Given the description of an element on the screen output the (x, y) to click on. 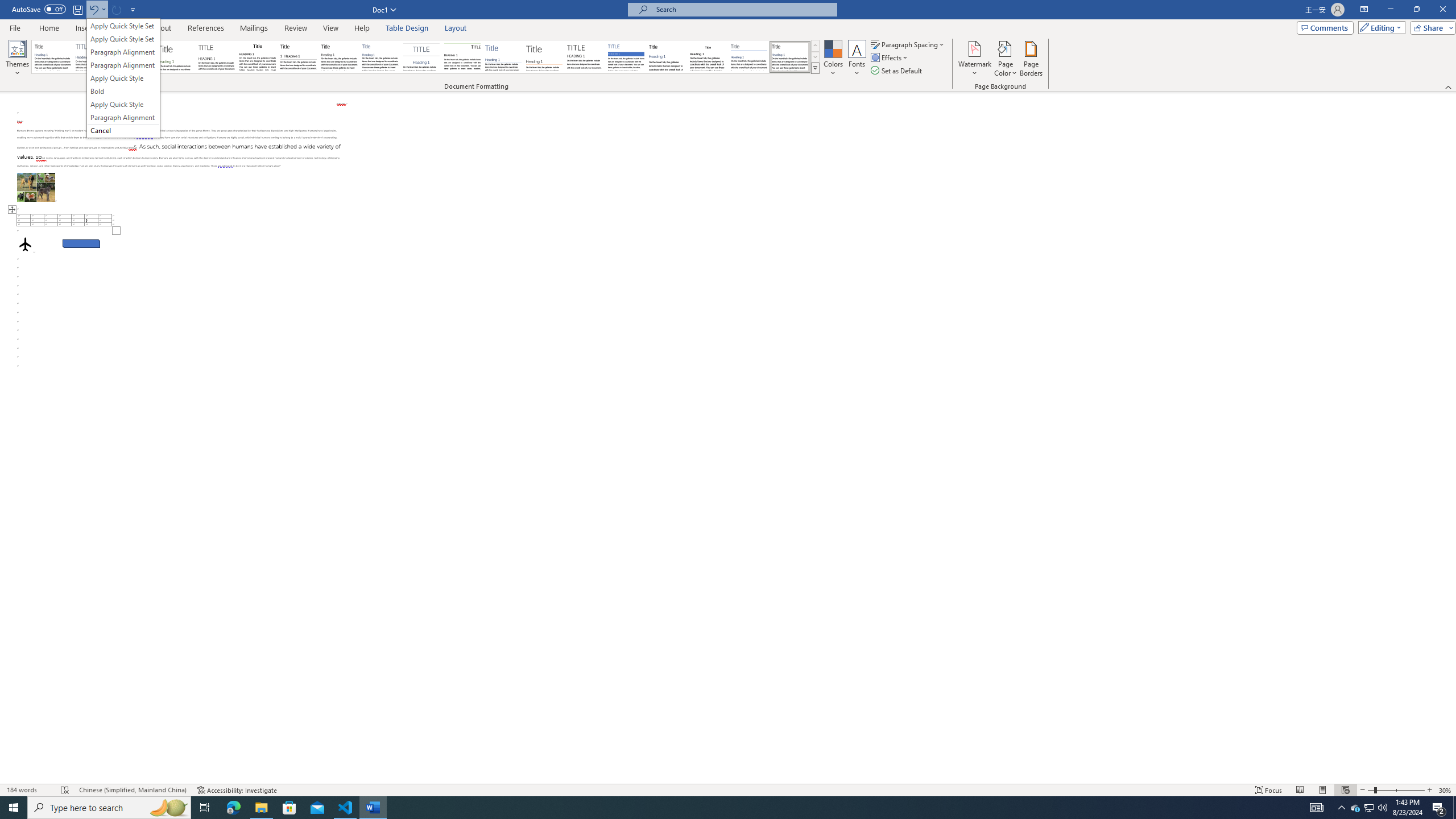
Zoom 30% (1445, 790)
Black & White (Classic) (257, 56)
Casual (379, 56)
Word Count 184 words (28, 790)
Lines (Stylish) (544, 56)
Page Borders... (1031, 58)
